Given the description of an element on the screen output the (x, y) to click on. 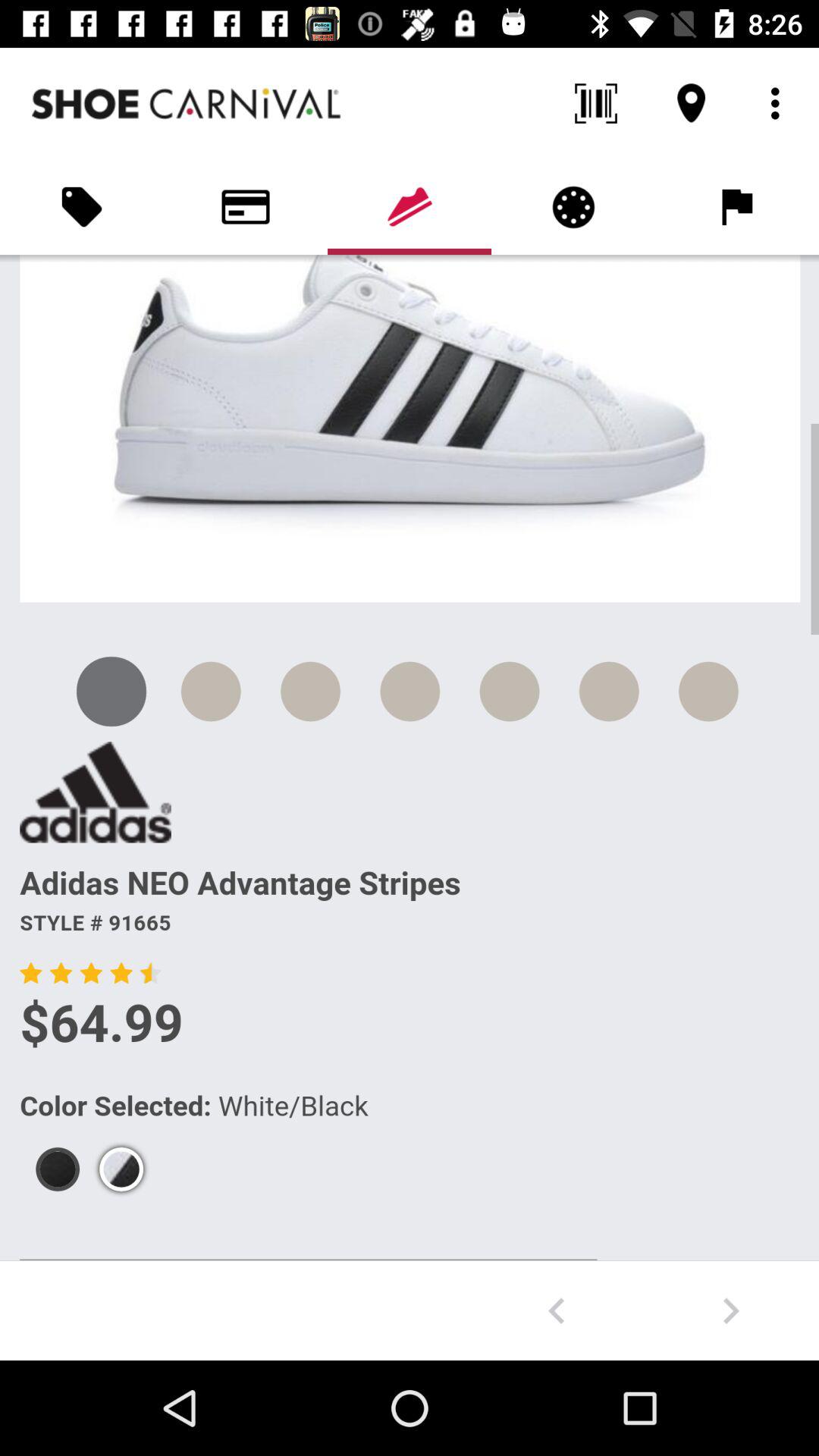
to go back (555, 1310)
